Given the description of an element on the screen output the (x, y) to click on. 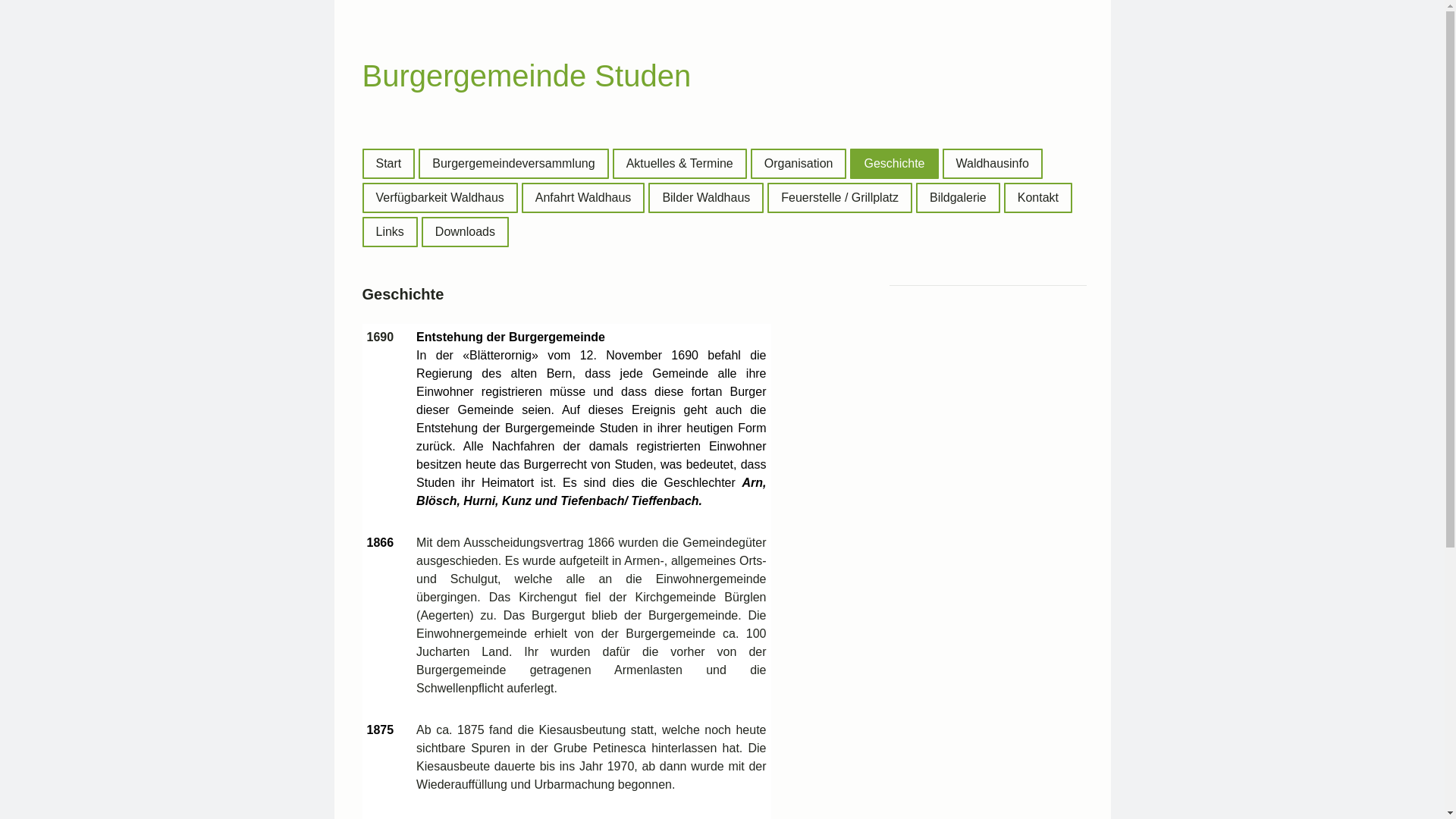
Anfahrt Waldhaus Element type: text (583, 197)
Organisation Element type: text (798, 163)
Downloads Element type: text (465, 231)
Burgergemeinde Studen Element type: text (526, 81)
Waldhausinfo Element type: text (991, 163)
Bildgalerie Element type: text (957, 197)
Start Element type: text (389, 163)
Kontakt Element type: text (1037, 197)
Bilder Waldhaus Element type: text (705, 197)
Links Element type: text (390, 231)
Feuerstelle / Grillplatz Element type: text (839, 197)
Burgergemeindeversammlung Element type: text (513, 163)
Geschichte Element type: text (893, 163)
Aktuelles & Termine Element type: text (679, 163)
